Given the description of an element on the screen output the (x, y) to click on. 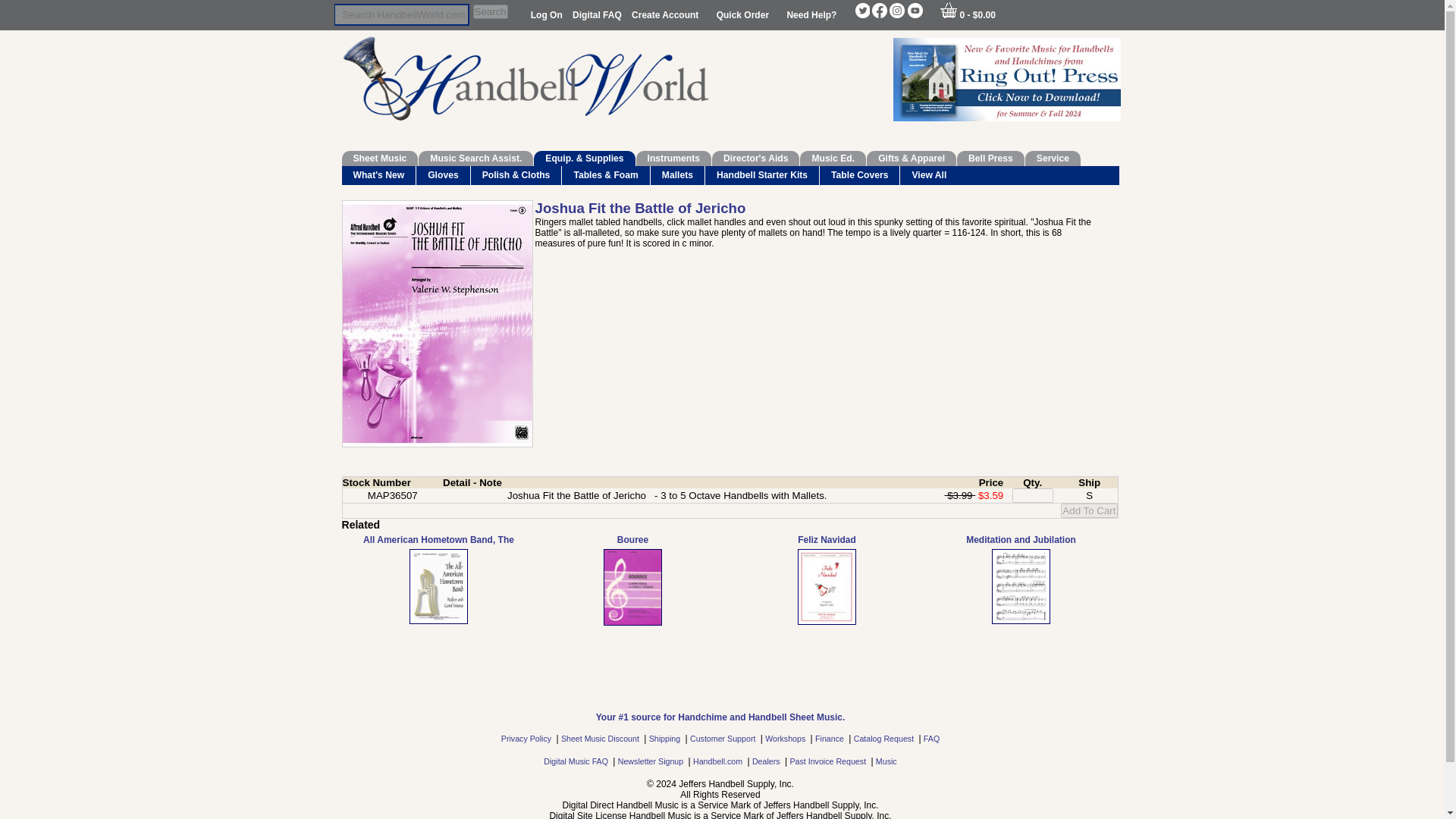
Search (490, 11)
Log On (547, 14)
Click For Larger Picture (436, 323)
Search HandbellWorld.com Form (400, 14)
Follow us on Youtube (915, 10)
Follow us on Facebook (879, 10)
Create Account (666, 14)
Quick Order (743, 14)
Digital FAQ (598, 14)
Music Search Assist. (475, 158)
Bouree (633, 586)
Follow us on Instagram (896, 10)
Sheet Music (378, 158)
Need Help? (812, 14)
Follow us on Twitter (861, 10)
